Given the description of an element on the screen output the (x, y) to click on. 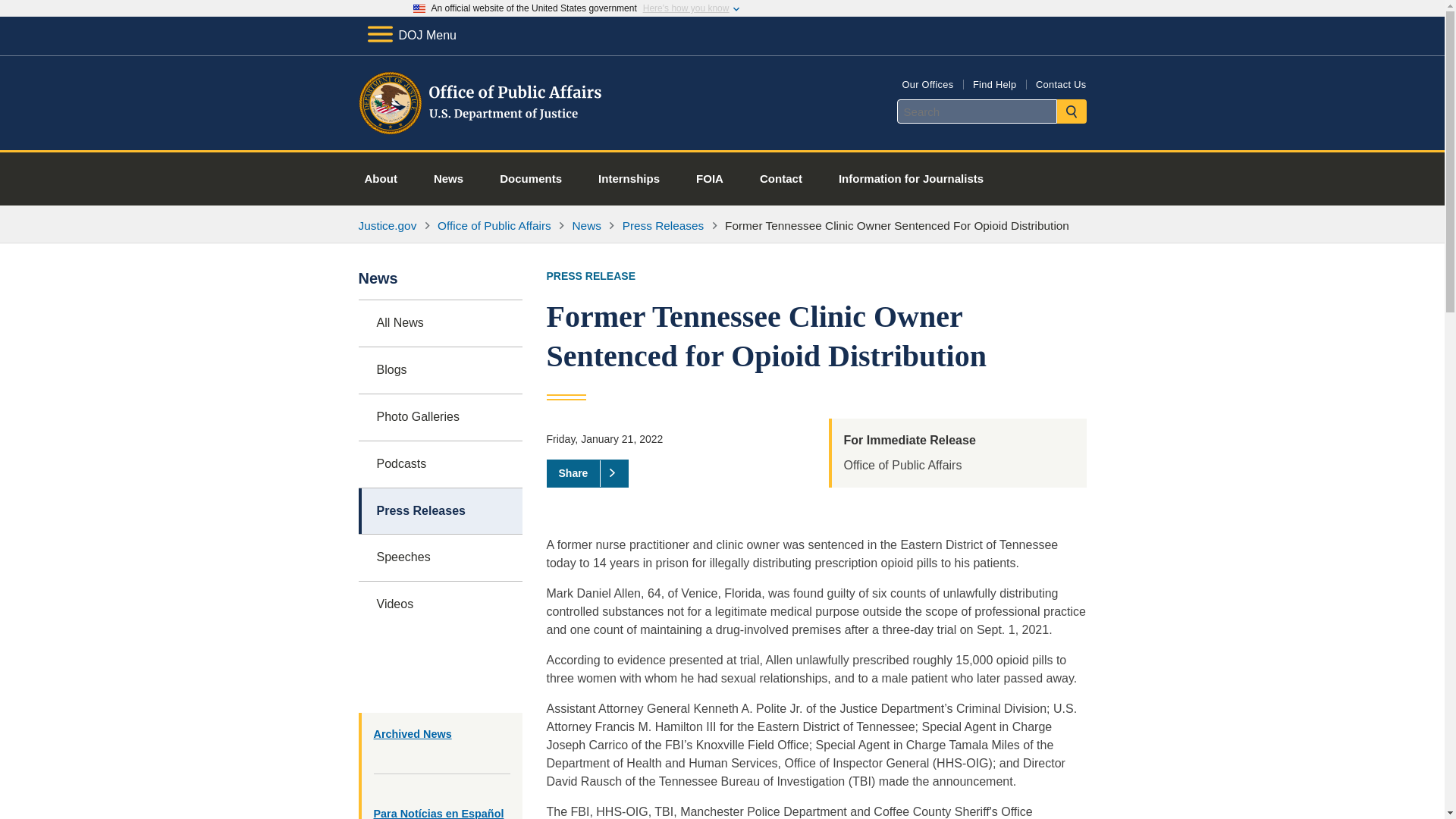
Internships (628, 179)
Blogs (439, 370)
Office of Public Affairs (494, 225)
Find Help (994, 84)
Podcasts (439, 464)
Here's how you know (686, 8)
Our Offices (927, 84)
Information for Journalists (911, 179)
News (447, 179)
FOIA (709, 179)
All News (439, 323)
News (586, 225)
Contact (781, 179)
Contact Us (1060, 84)
News (439, 285)
